Given the description of an element on the screen output the (x, y) to click on. 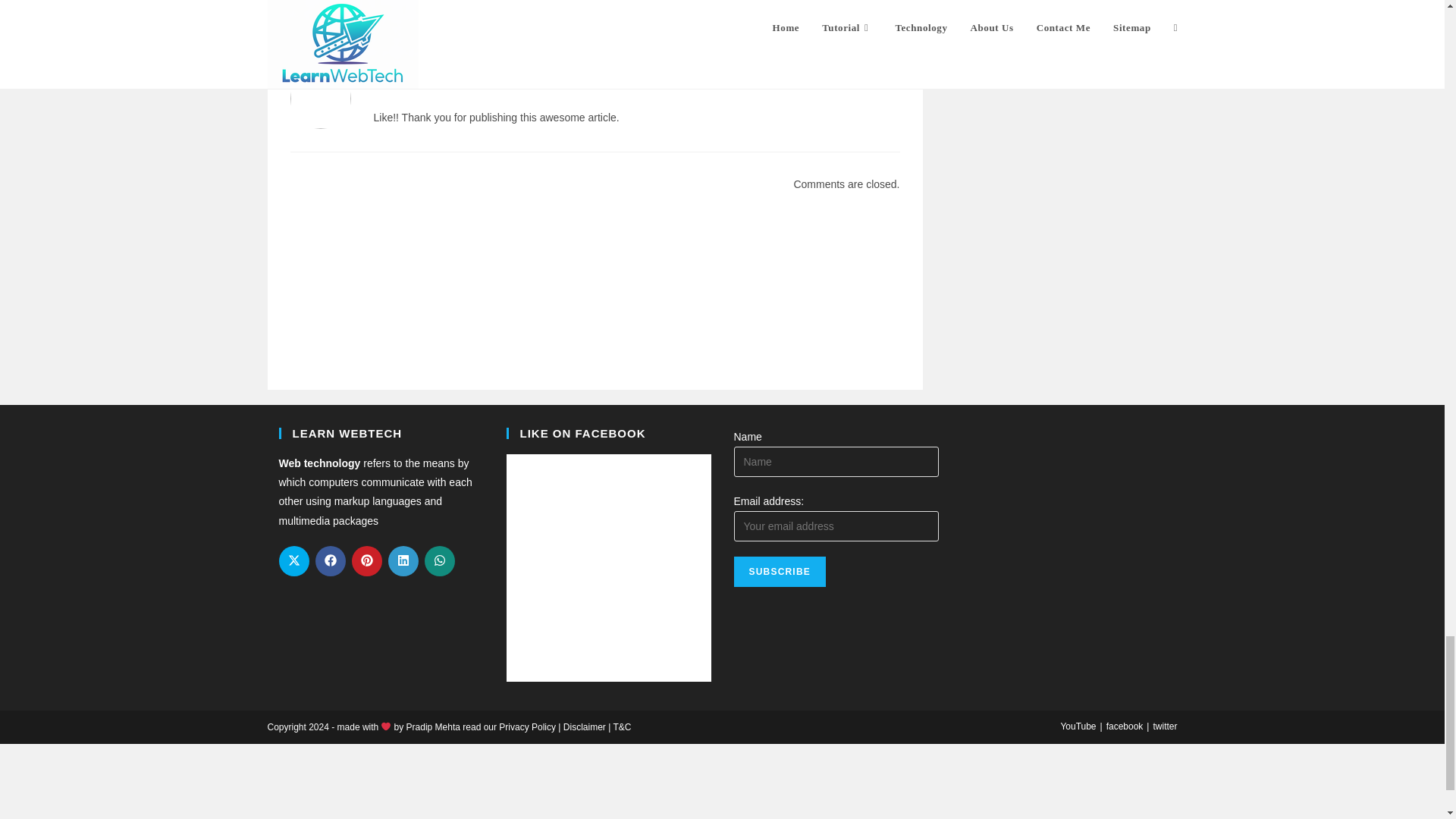
Share on X (293, 561)
Share on LinkedIn (403, 561)
Subscribe (779, 571)
Share on Pinterest (366, 561)
Share on WhatsApp (439, 561)
Share on Facebook (330, 561)
